Given the description of an element on the screen output the (x, y) to click on. 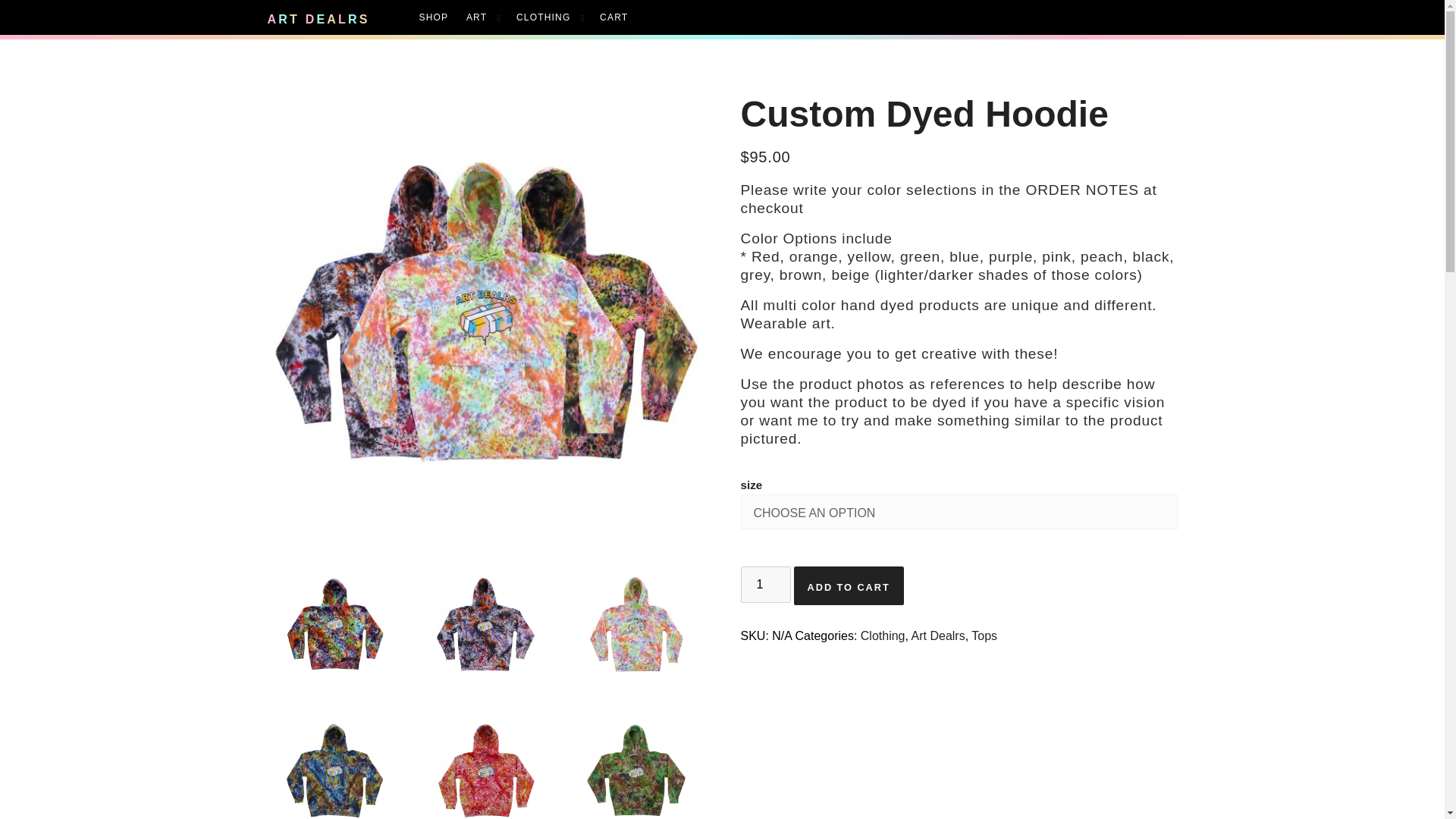
Tops (984, 635)
CLOTHING (543, 17)
Clothing (882, 635)
Art Dealrs (938, 635)
1 (764, 584)
ADD TO CART (848, 585)
ART (476, 17)
Qty (764, 584)
CART (611, 17)
ART DEALRS (342, 17)
SHOP (434, 17)
